Given the description of an element on the screen output the (x, y) to click on. 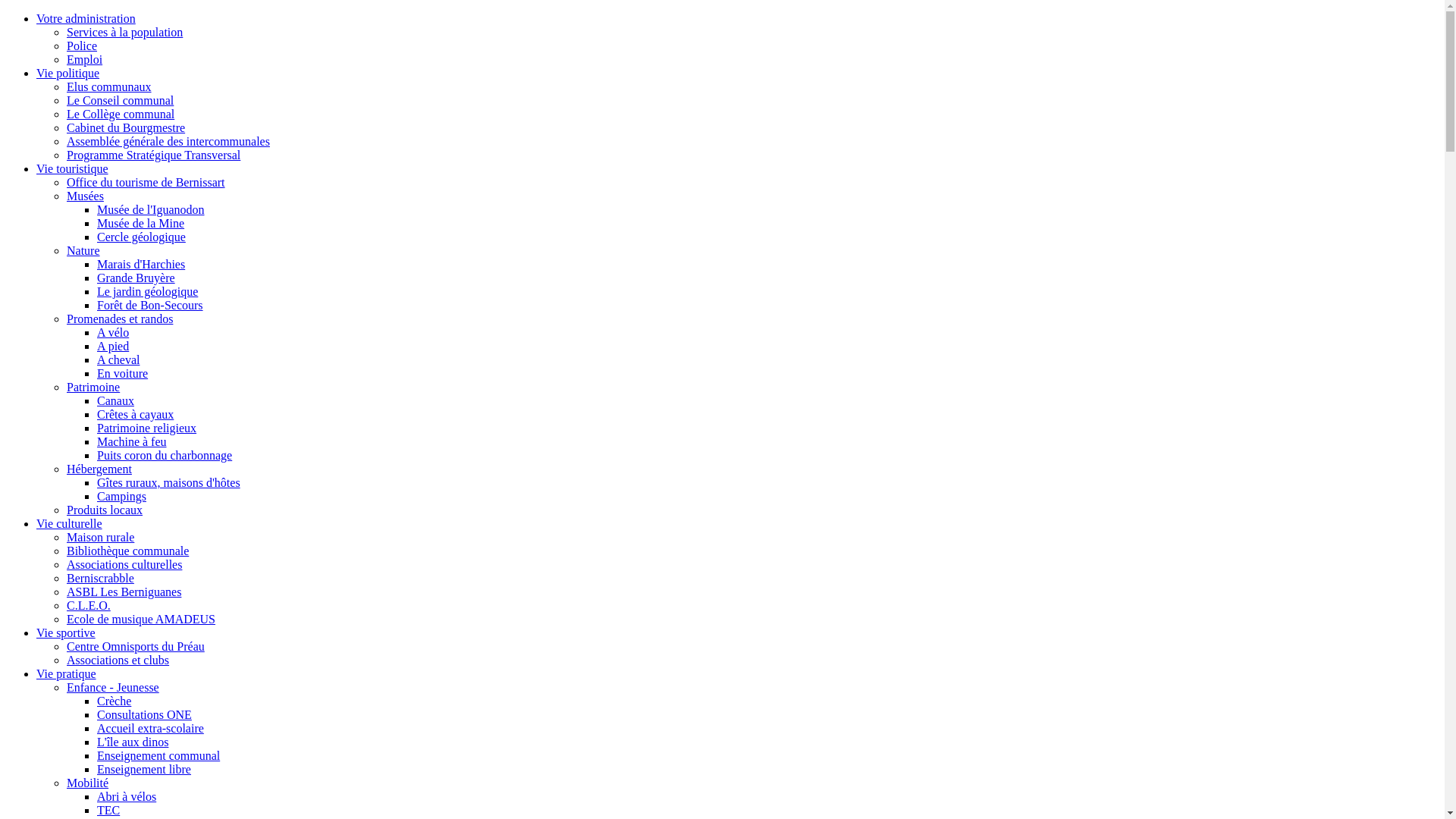
ASBL Les Berniguanes Element type: text (123, 591)
Puits coron du charbonnage Element type: text (164, 454)
Cabinet du Bourgmestre Element type: text (125, 127)
Nature Element type: text (83, 250)
Vie politique Element type: text (67, 72)
A pied Element type: text (112, 345)
Consultations ONE Element type: text (144, 714)
Ecole de musique AMADEUS Element type: text (140, 618)
Police Element type: text (81, 45)
Votre administration Element type: text (85, 18)
TEC Element type: text (108, 809)
Patrimoine Element type: text (92, 386)
Associations et clubs Element type: text (117, 659)
Elus communaux Element type: text (108, 86)
En voiture Element type: text (122, 373)
Patrimoine religieux Element type: text (146, 427)
Canaux Element type: text (115, 400)
Produits locaux Element type: text (104, 509)
Vie culturelle Element type: text (69, 523)
Enseignement libre Element type: text (144, 768)
Emploi Element type: text (84, 59)
Associations culturelles Element type: text (124, 564)
Maison rurale Element type: text (100, 536)
A cheval Element type: text (118, 359)
Promenades et randos Element type: text (119, 318)
Vie sportive Element type: text (65, 632)
Accueil extra-scolaire Element type: text (150, 727)
Campings Element type: text (121, 495)
Vie touristique Element type: text (72, 168)
Vie pratique Element type: text (66, 673)
Office du tourisme de Bernissart Element type: text (145, 181)
Le Conseil communal Element type: text (119, 100)
C.L.E.O. Element type: text (88, 605)
Marais d'Harchies Element type: text (141, 263)
Enseignement communal Element type: text (158, 755)
Berniscrabble Element type: text (100, 577)
Enfance - Jeunesse Element type: text (112, 686)
